Given the description of an element on the screen output the (x, y) to click on. 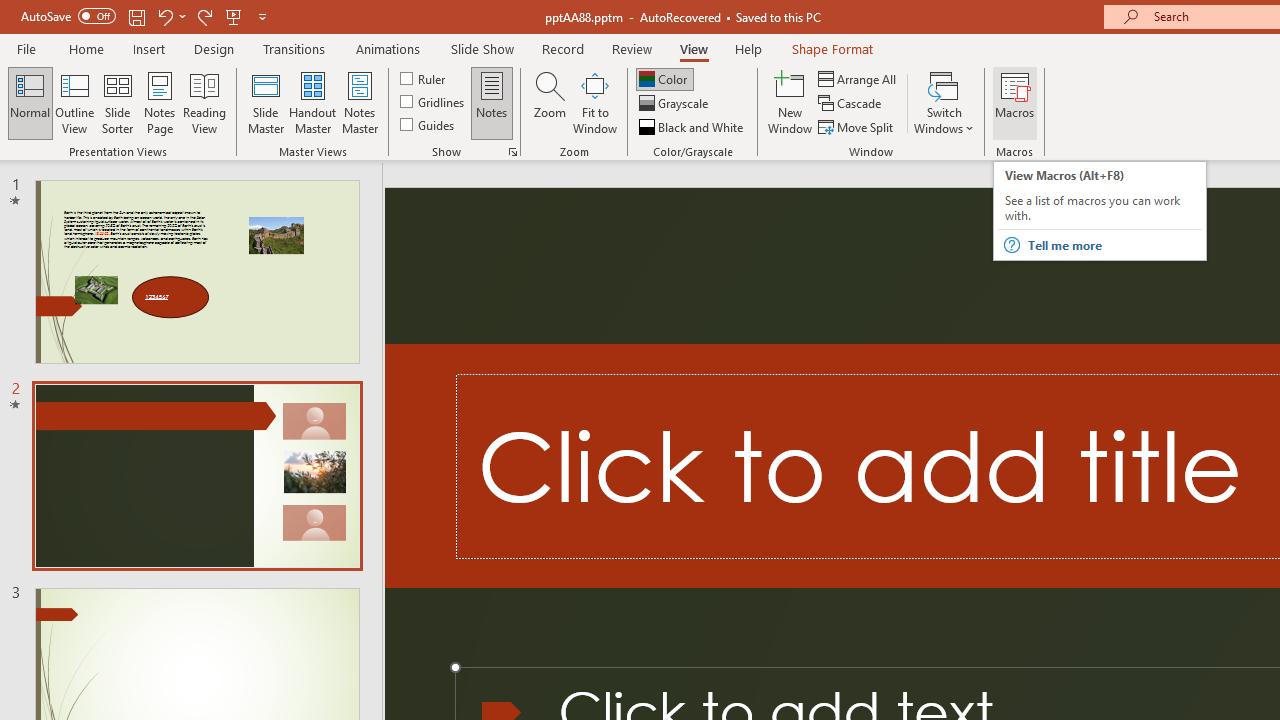
Macros (1014, 102)
Black and White (693, 126)
Arrange All (858, 78)
Notes Master (360, 102)
Cascade (851, 103)
New Window (790, 102)
Handout Master (312, 102)
